Given the description of an element on the screen output the (x, y) to click on. 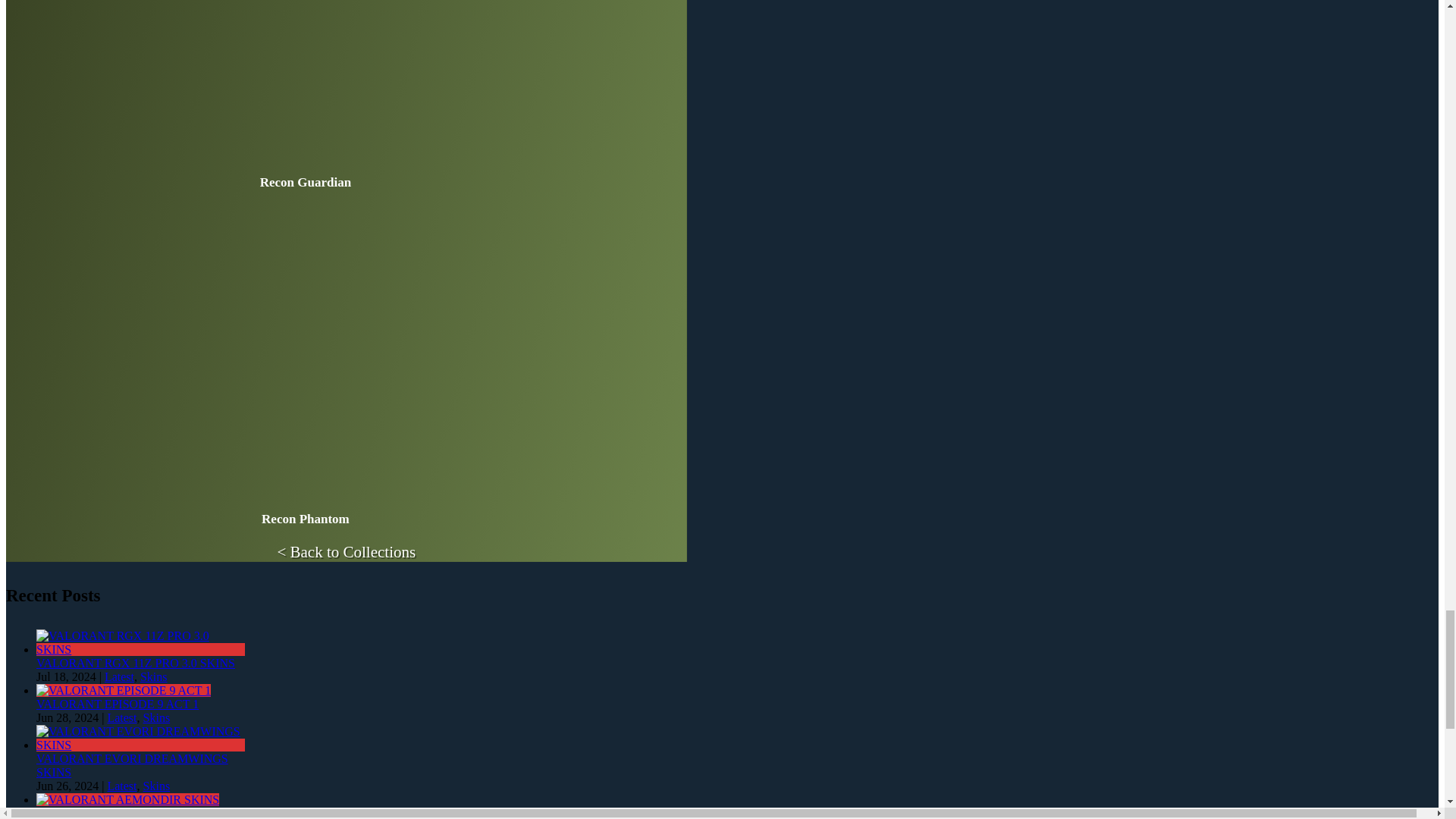
VALORANT AEMONDIR SKINS (121, 812)
VALORANT EVORI DREAMWINGS SKINS (140, 744)
VALORANT RGX 11Z PRO 3.0 SKINS (135, 662)
Skins (156, 717)
Skins (153, 676)
VALORANT RGX 11Z PRO 3.0 SKINS (140, 649)
Latest (121, 717)
VALORANT EPISODE 9 ACT 1 (117, 703)
VALORANT EVORI DREAMWINGS SKINS (132, 765)
VALORANT EPISODE 9 ACT 1 (123, 689)
Latest (118, 676)
Latest (121, 785)
Skins (156, 785)
